Given the description of an element on the screen output the (x, y) to click on. 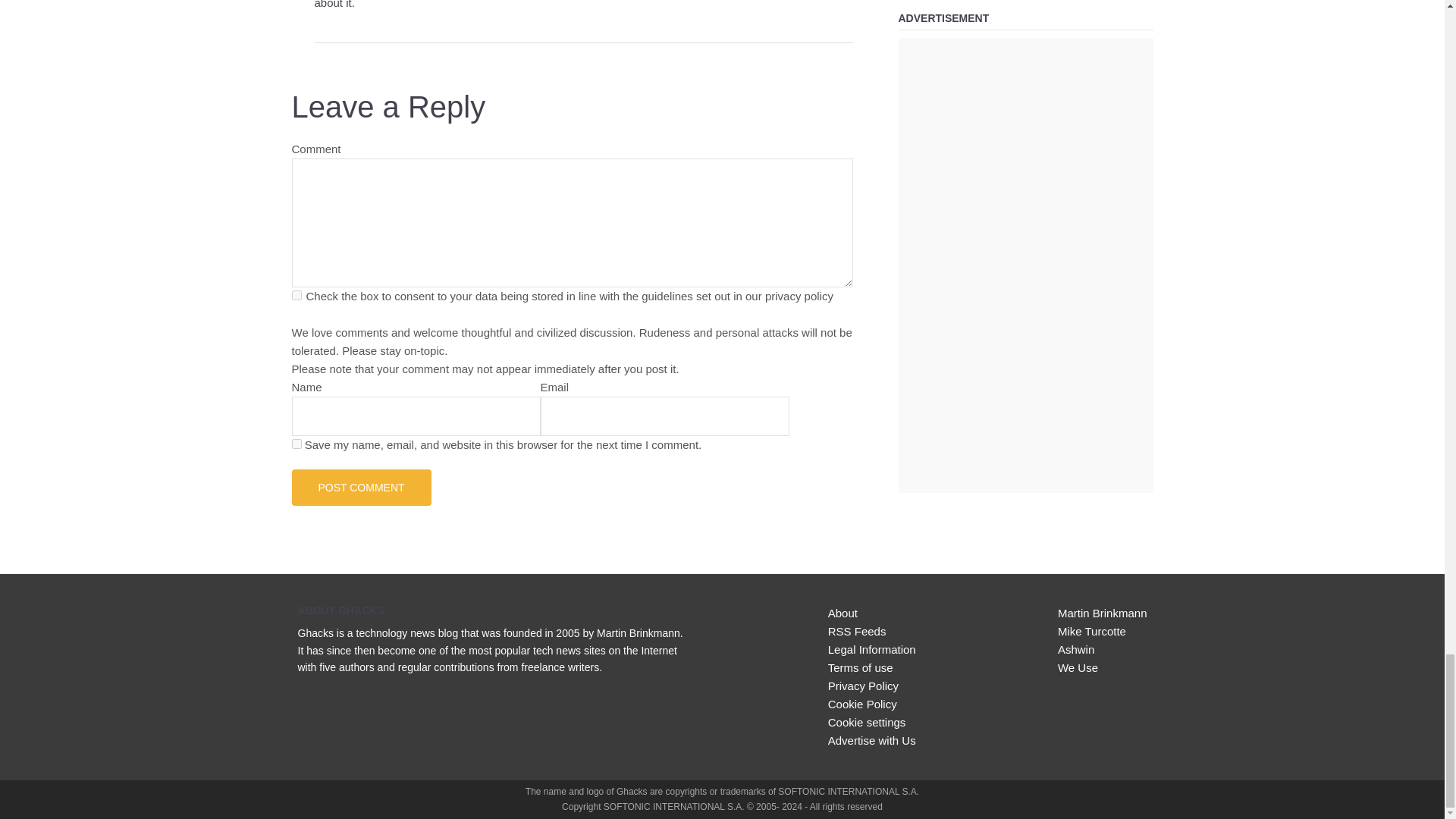
yes (296, 443)
Post Comment (360, 487)
privacy-key (296, 295)
